Given the description of an element on the screen output the (x, y) to click on. 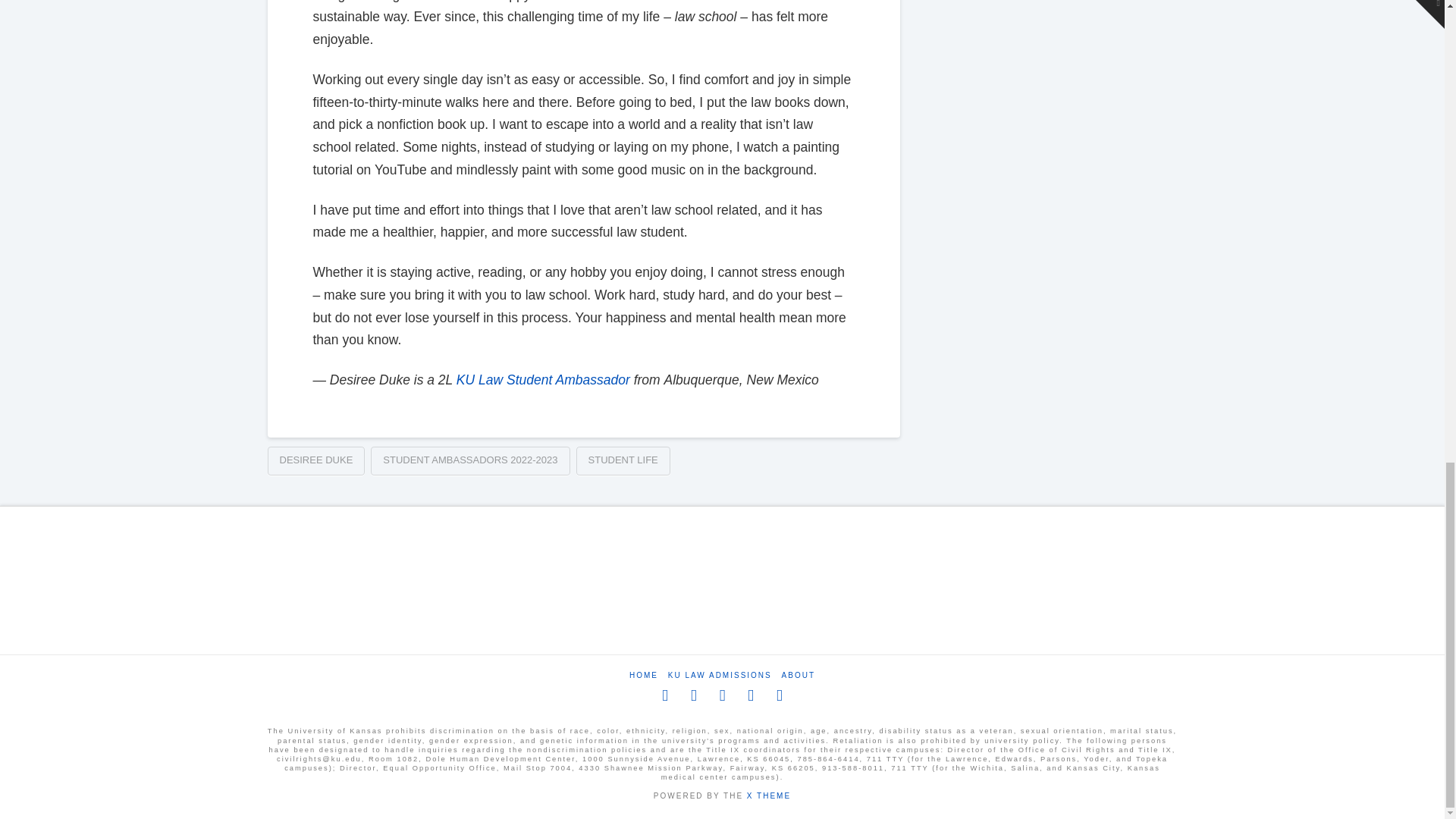
KU LAW ADMISSIONS (719, 675)
STUDENT LIFE (622, 460)
STUDENT AMBASSADORS 2022-2023 (470, 460)
HOME (643, 675)
ABOUT (798, 675)
KU Law Student Ambassador (543, 379)
DESIREE DUKE (315, 460)
